Given the description of an element on the screen output the (x, y) to click on. 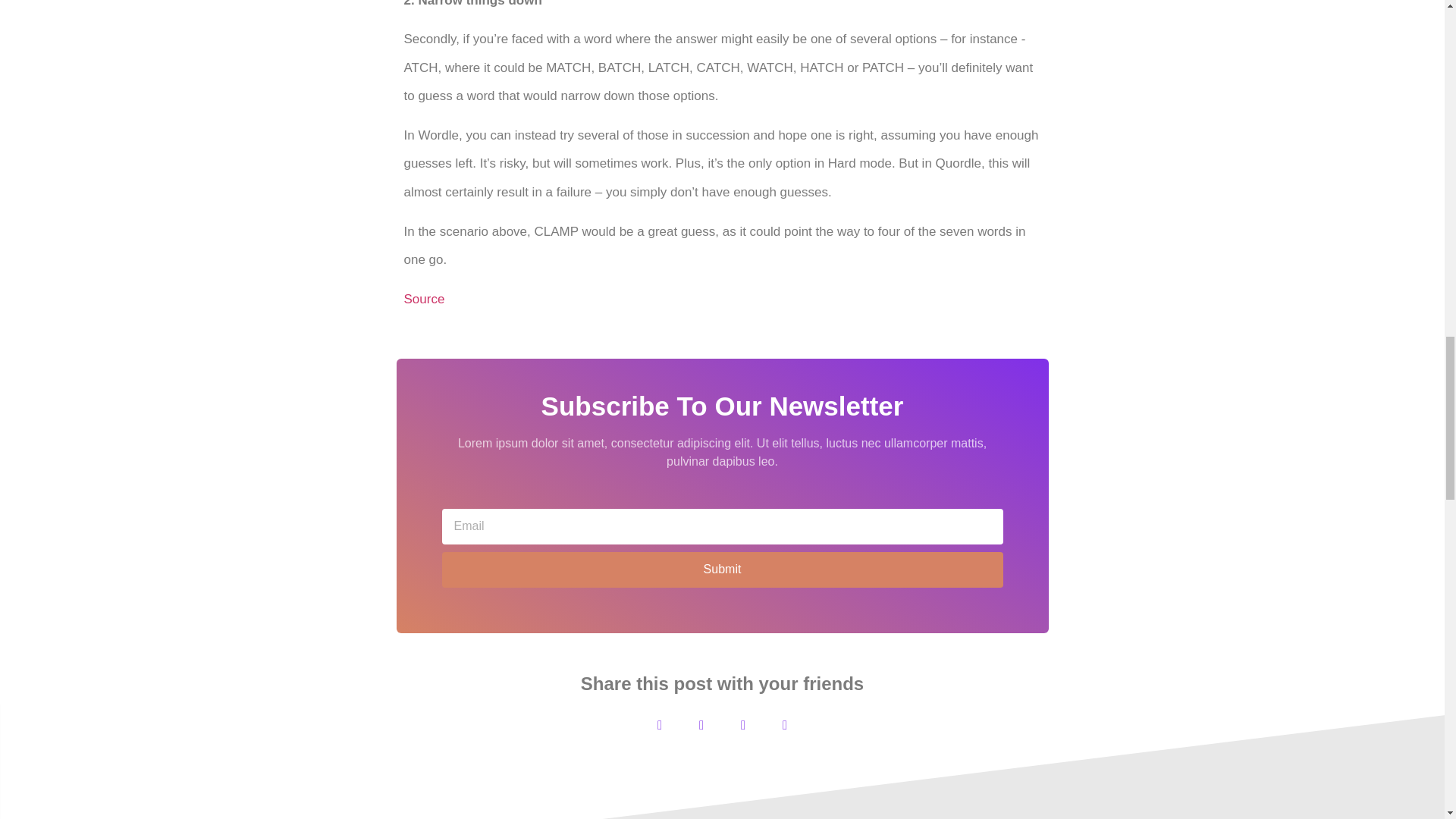
Source (423, 298)
Submit (722, 570)
